Given the description of an element on the screen output the (x, y) to click on. 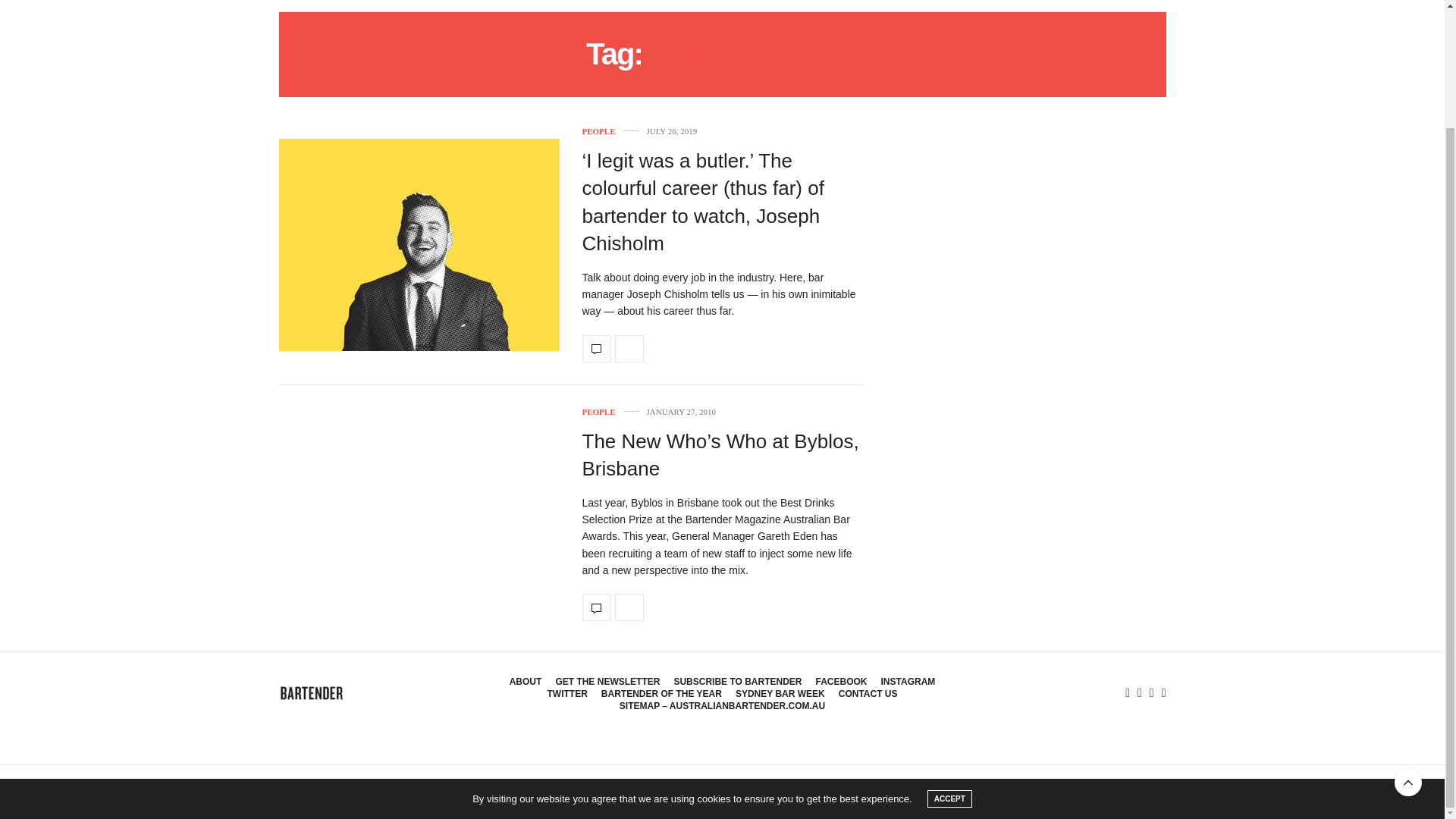
FEATURES (418, 5)
Scroll To Top (1408, 641)
BARS (360, 5)
australianbartender.com.au (312, 693)
RECIPES (304, 5)
